Given the description of an element on the screen output the (x, y) to click on. 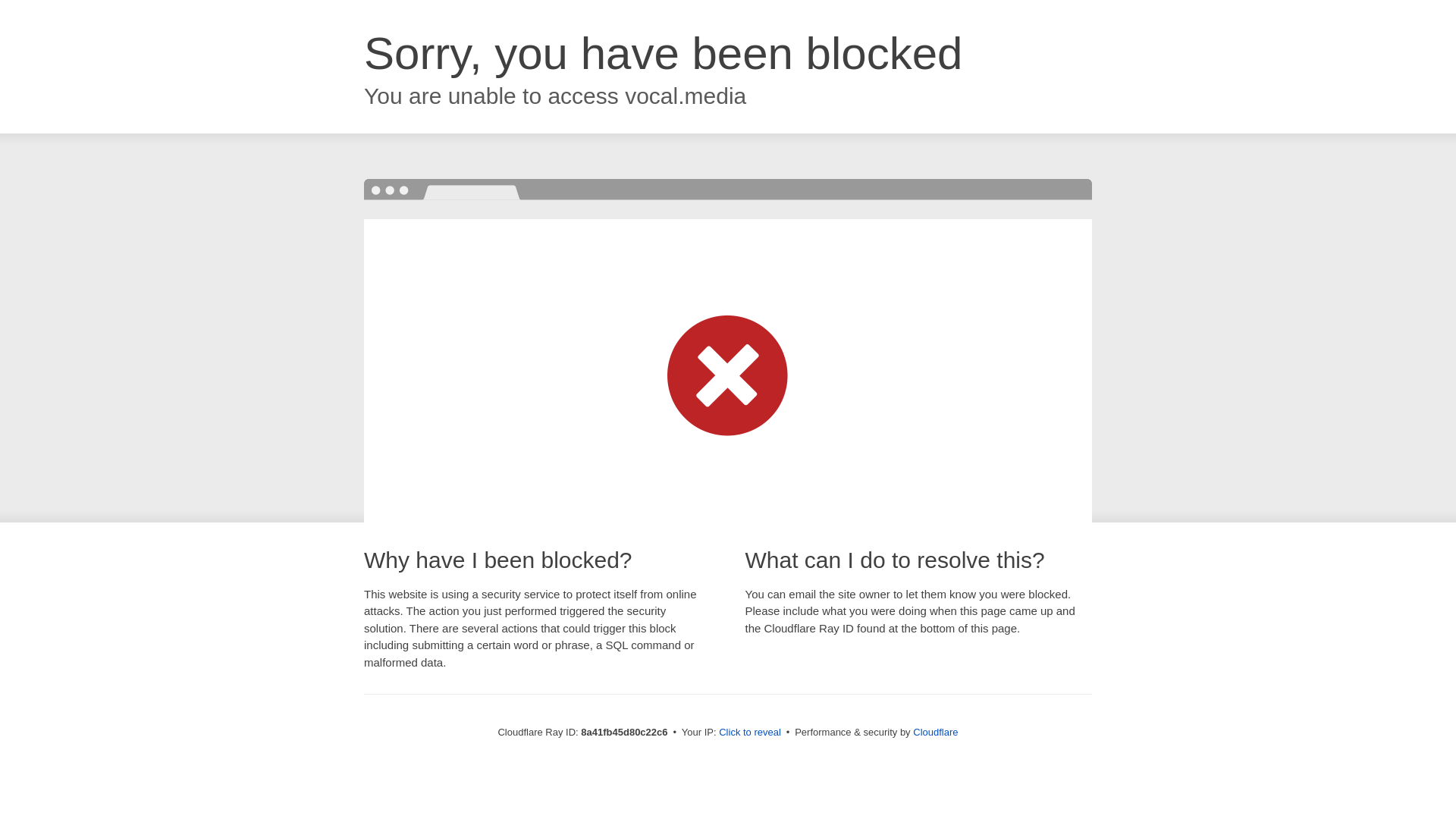
Click to reveal (749, 732)
Cloudflare (935, 731)
